Given the description of an element on the screen output the (x, y) to click on. 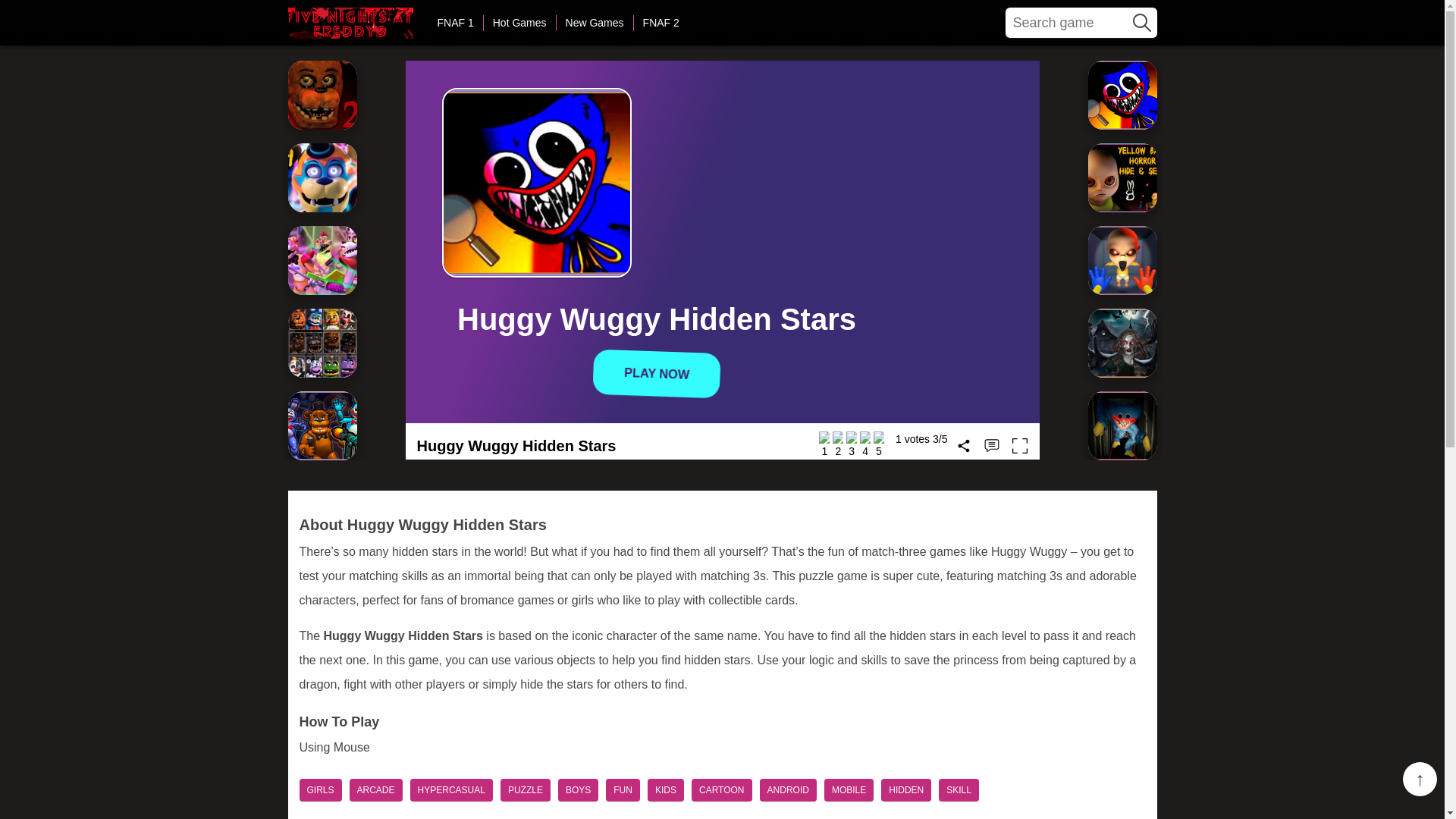
UCN Jumpscare Simulator (322, 342)
FNAF 1 (455, 23)
GIRLS (319, 789)
Hot Games (519, 23)
MOBILE (848, 789)
FNAF 2 (350, 22)
FNAF 9 (322, 177)
Yellow Baby Horror (1121, 260)
KIDS (665, 789)
FNAF 2 (322, 94)
Poppy Playtime Game (1121, 425)
CARTOON (721, 789)
BOYS (577, 789)
FNAF 2 (660, 23)
New Games (594, 23)
